Given the description of an element on the screen output the (x, y) to click on. 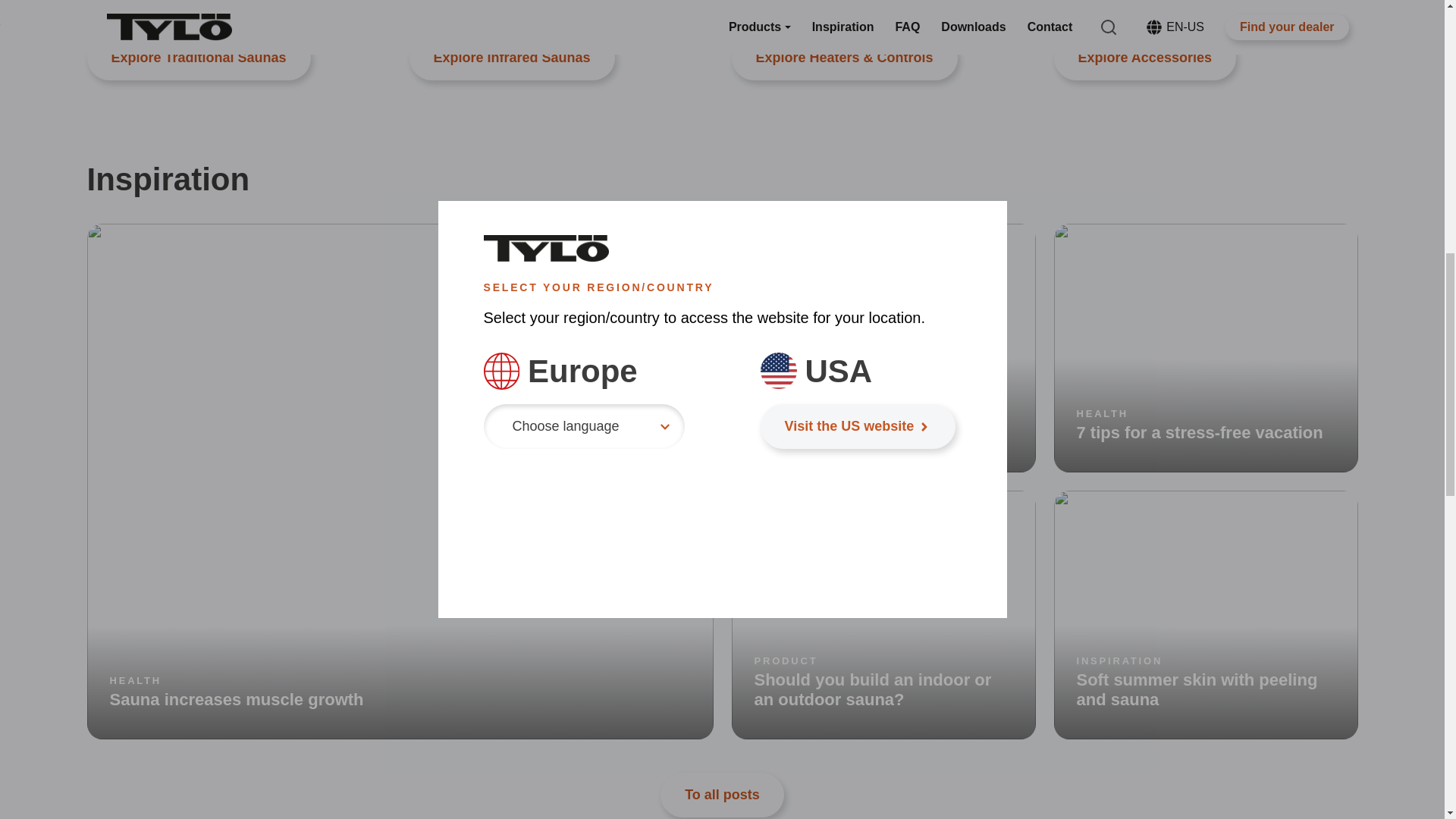
Explore Traditional Saunas (197, 58)
